Given the description of an element on the screen output the (x, y) to click on. 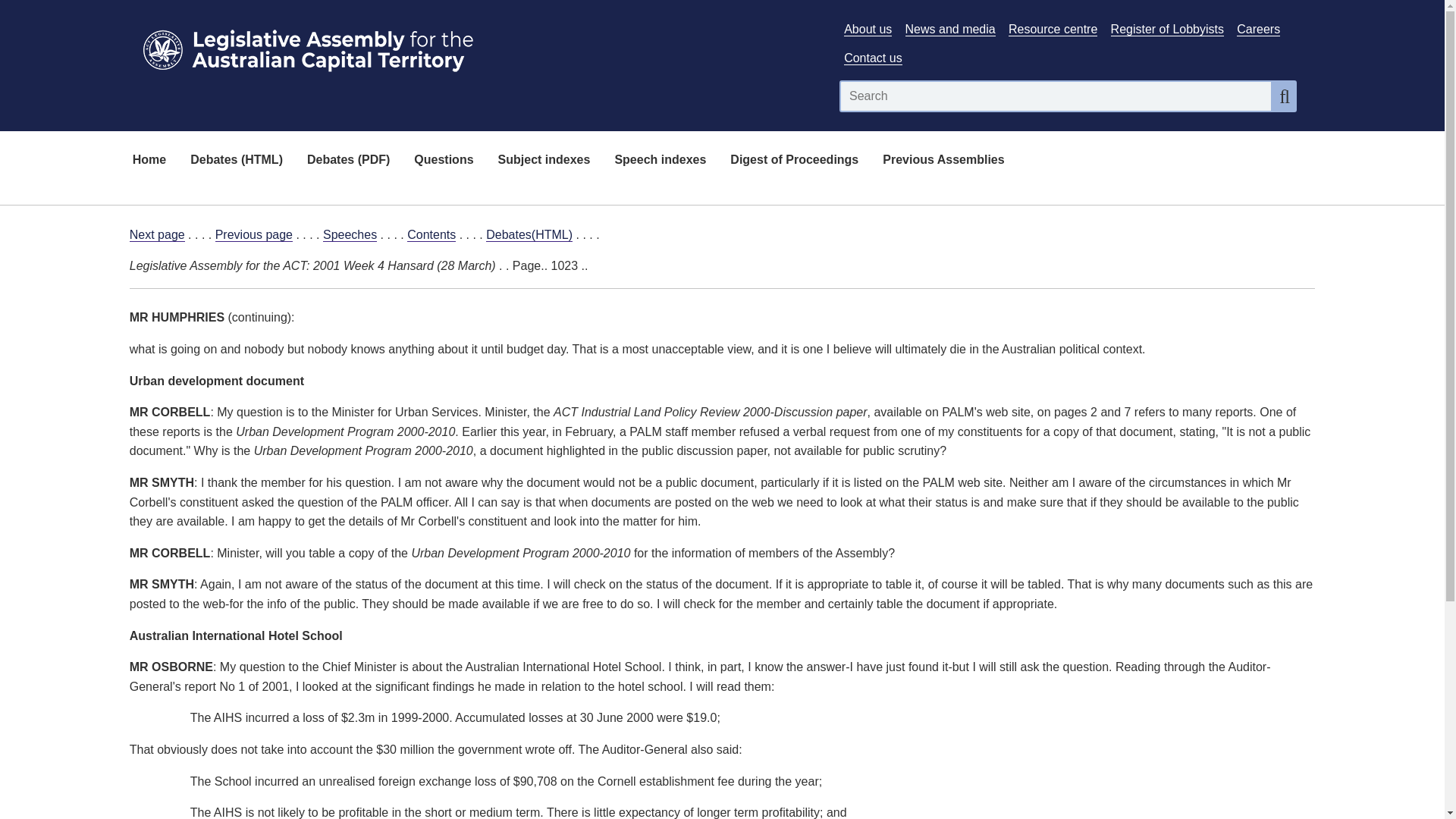
Link to About Us (867, 29)
About us (867, 29)
Contact us (872, 58)
Subject indexes (544, 160)
Link to Homepage (475, 46)
Link to Resource centre (1053, 29)
Previous page (253, 234)
Careers (1257, 29)
Next page (156, 234)
Home (148, 160)
Questions (442, 160)
Link to News and media (950, 29)
Digest of Proceedings (793, 160)
Resource centre (1053, 29)
Search input field (1056, 96)
